Given the description of an element on the screen output the (x, y) to click on. 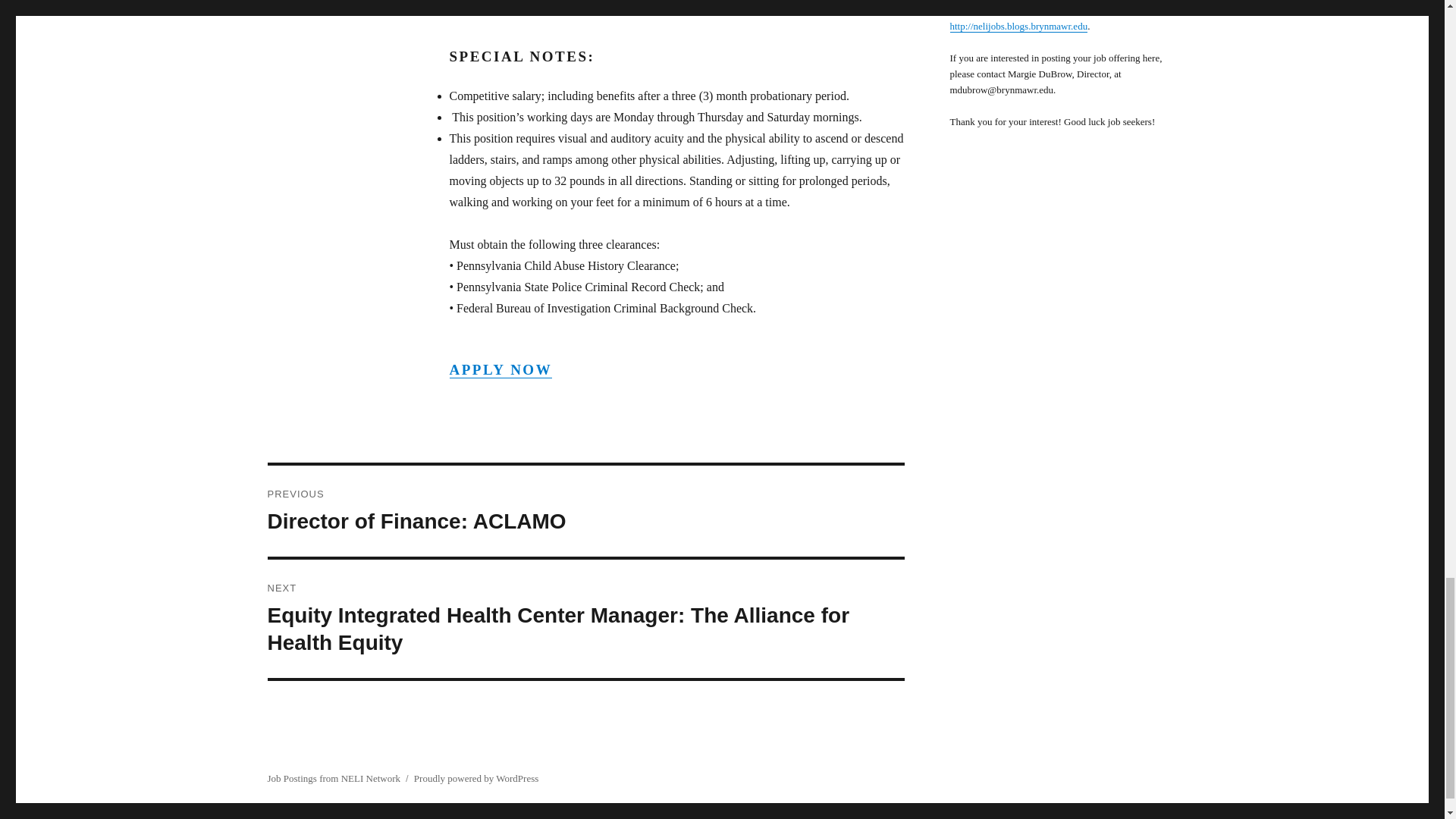
APPLY NOW (499, 369)
